Given the description of an element on the screen output the (x, y) to click on. 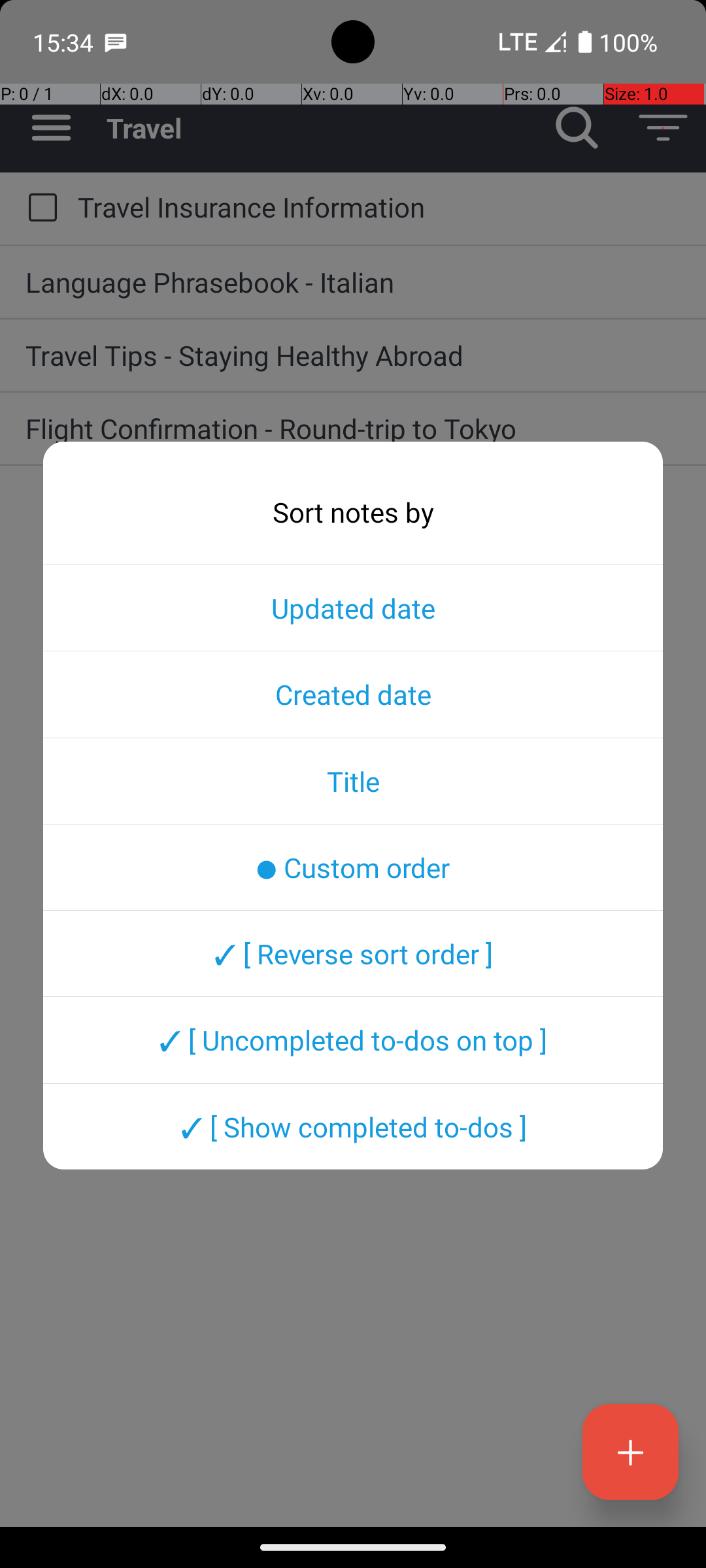
Updated date Element type: android.widget.TextView (352, 607)
Created date Element type: android.widget.TextView (352, 693)
⬤ Custom order Element type: android.widget.TextView (352, 866)
✓ [ Reverse sort order ] Element type: android.widget.TextView (352, 953)
✓ [ Uncompleted to-dos on top ] Element type: android.widget.TextView (352, 1039)
✓ [ Show completed to-dos ] Element type: android.widget.TextView (352, 1126)
to-do: Travel Insurance Information Element type: android.widget.CheckBox (38, 208)
Travel Insurance Information Element type: android.widget.TextView (378, 206)
Language Phrasebook - Italian Element type: android.widget.TextView (352, 281)
Travel Tips - Staying Healthy Abroad Element type: android.widget.TextView (352, 354)
Flight Confirmation - Round-trip to Tokyo Element type: android.widget.TextView (352, 427)
